Given the description of an element on the screen output the (x, y) to click on. 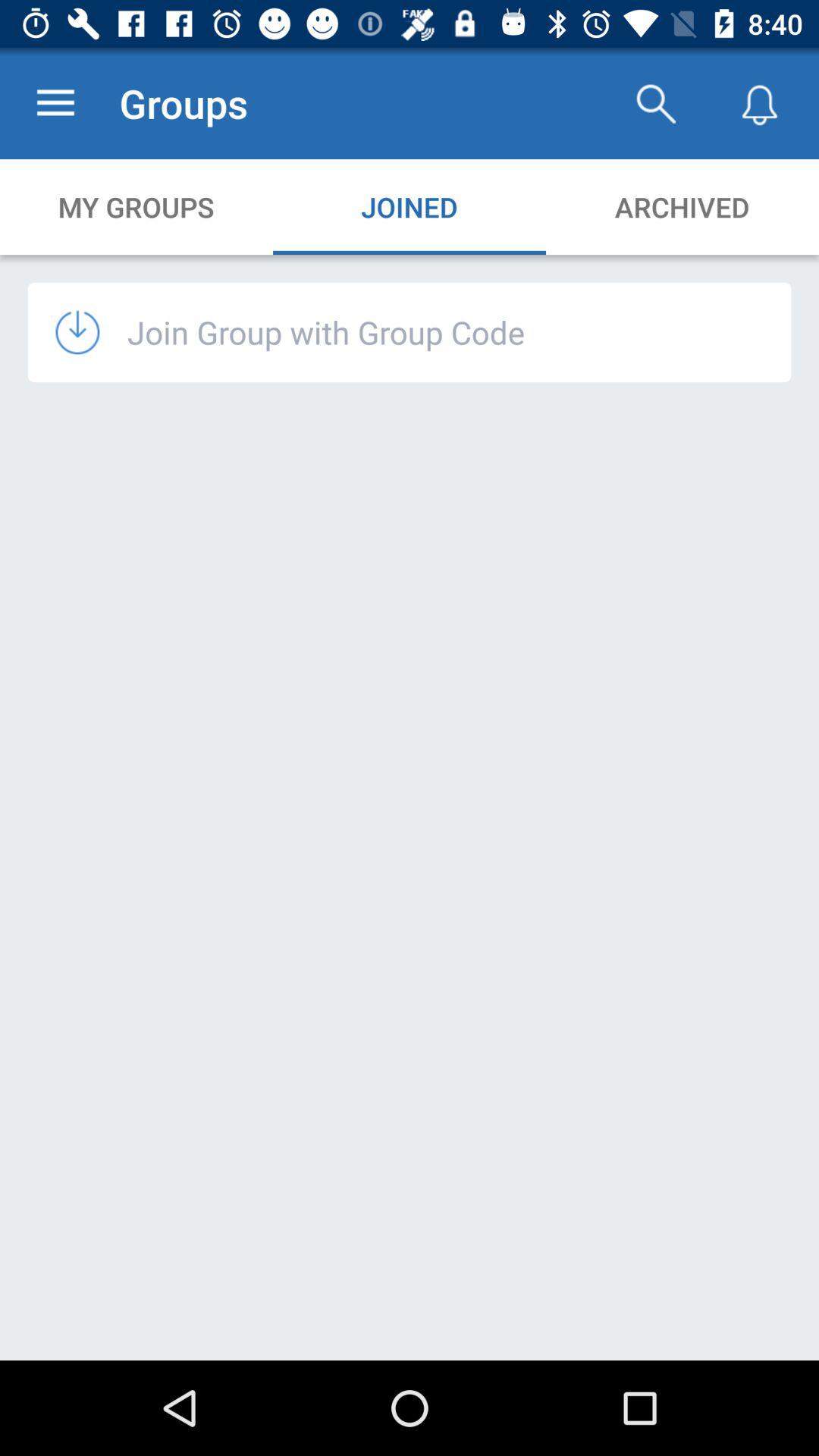
open the item below the my groups icon (325, 331)
